Given the description of an element on the screen output the (x, y) to click on. 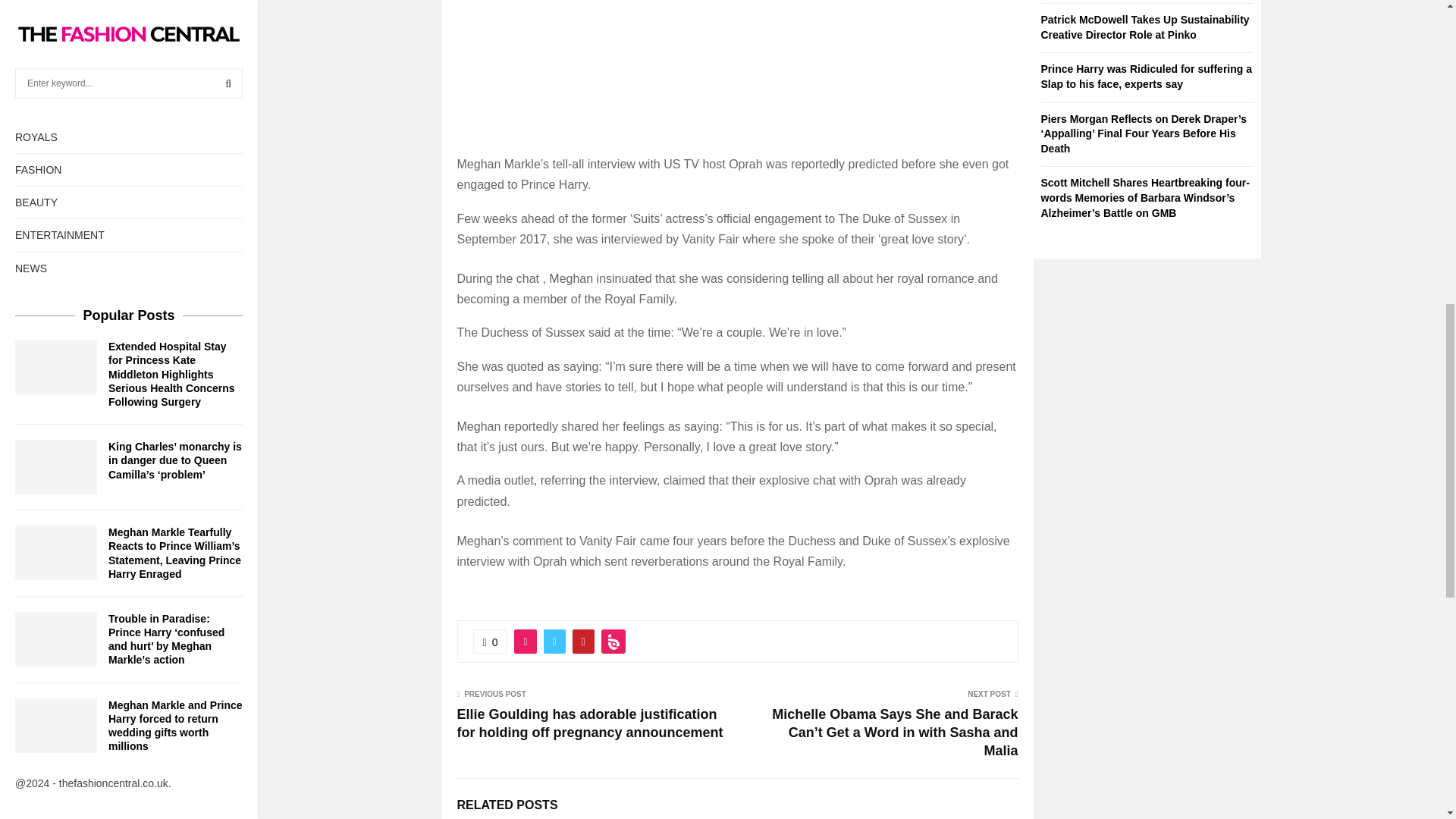
0 (490, 641)
